Given the description of an element on the screen output the (x, y) to click on. 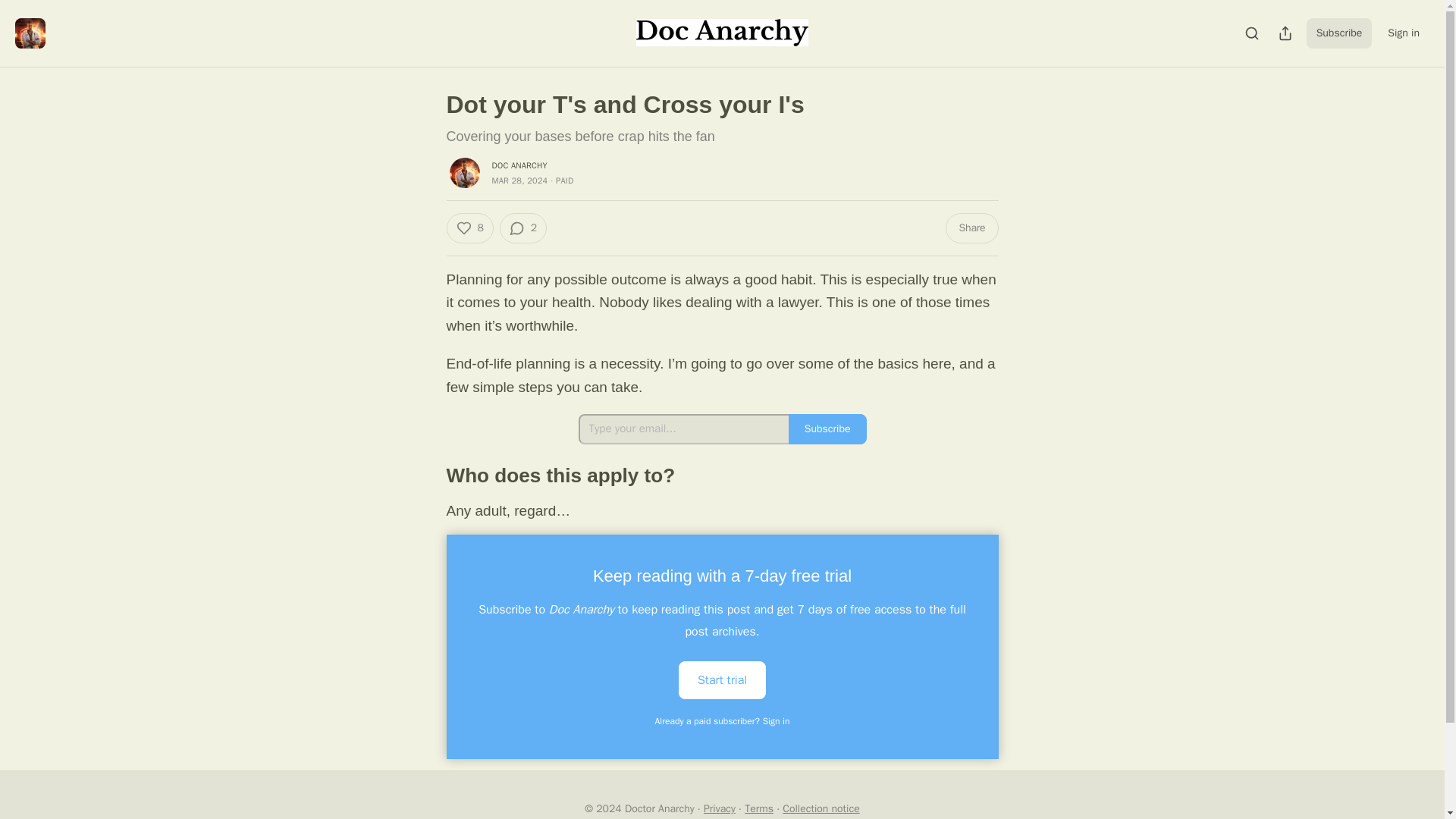
Start trial (721, 679)
8 (469, 227)
2 (523, 227)
Privacy (719, 808)
Terms (758, 808)
Start trial (721, 679)
DOC ANARCHY (519, 164)
Share (970, 227)
Subscribe (1339, 33)
Already a paid subscriber? Sign in (722, 720)
